Given the description of an element on the screen output the (x, y) to click on. 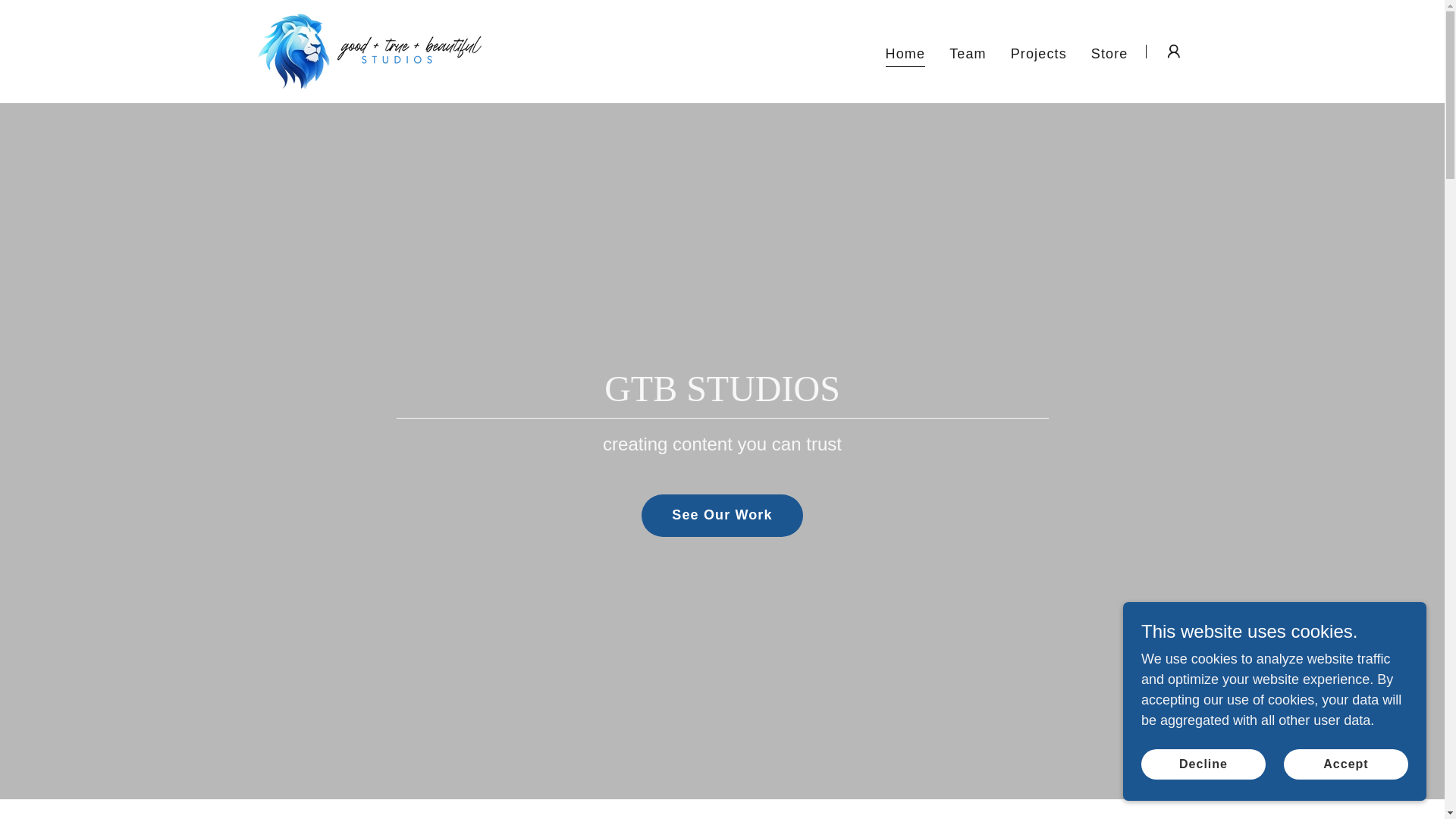
Projects (1038, 52)
Home (905, 55)
Store (1109, 52)
Team (967, 52)
See Our Work (722, 515)
